Given the description of an element on the screen output the (x, y) to click on. 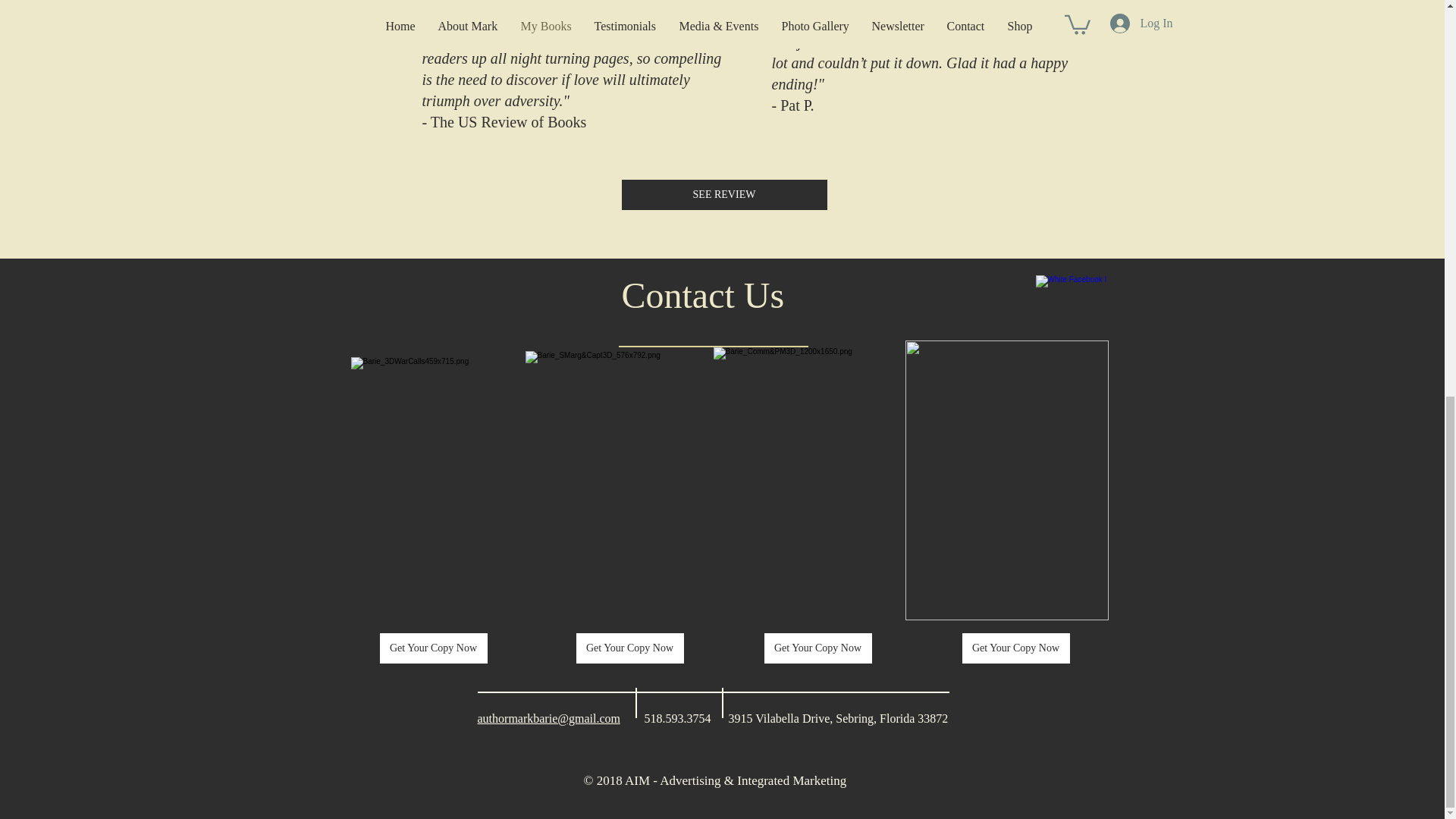
SEE REVIEW (724, 194)
Get Your Copy Now (818, 648)
Get Your Copy Now (432, 648)
Get Your Copy Now (630, 648)
Get Your Copy Now (1014, 648)
